Given the description of an element on the screen output the (x, y) to click on. 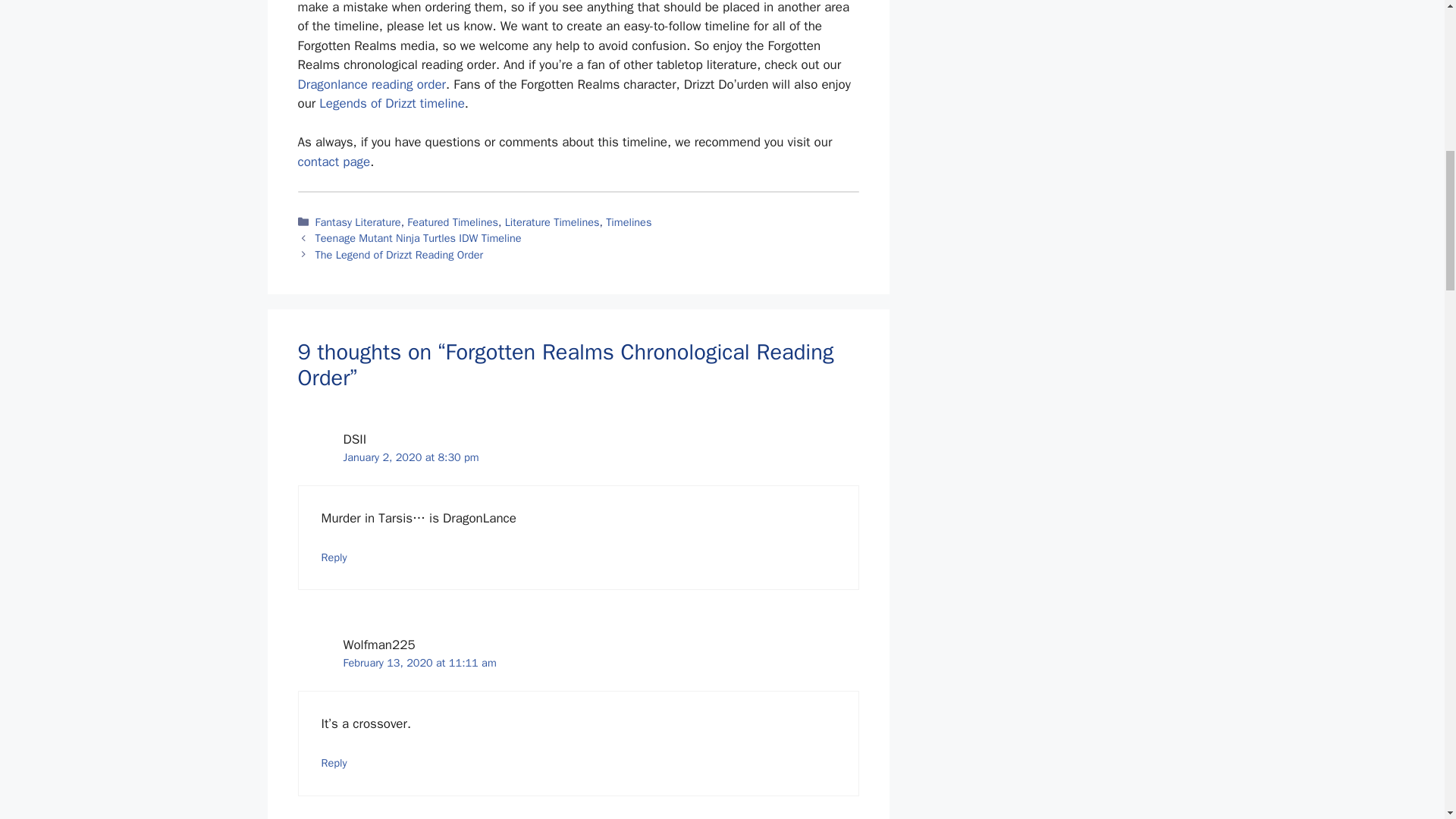
Reply (334, 762)
Literature Timelines (552, 222)
Timelines (627, 222)
The Legend of Drizzt Reading Order (399, 254)
February 13, 2020 at 11:11 am (419, 662)
Fantasy Literature (358, 222)
Featured Timelines (452, 222)
Teenage Mutant Ninja Turtles IDW Timeline (418, 237)
contact page (333, 161)
Legends of Drizzt timeline (391, 103)
